Given the description of an element on the screen output the (x, y) to click on. 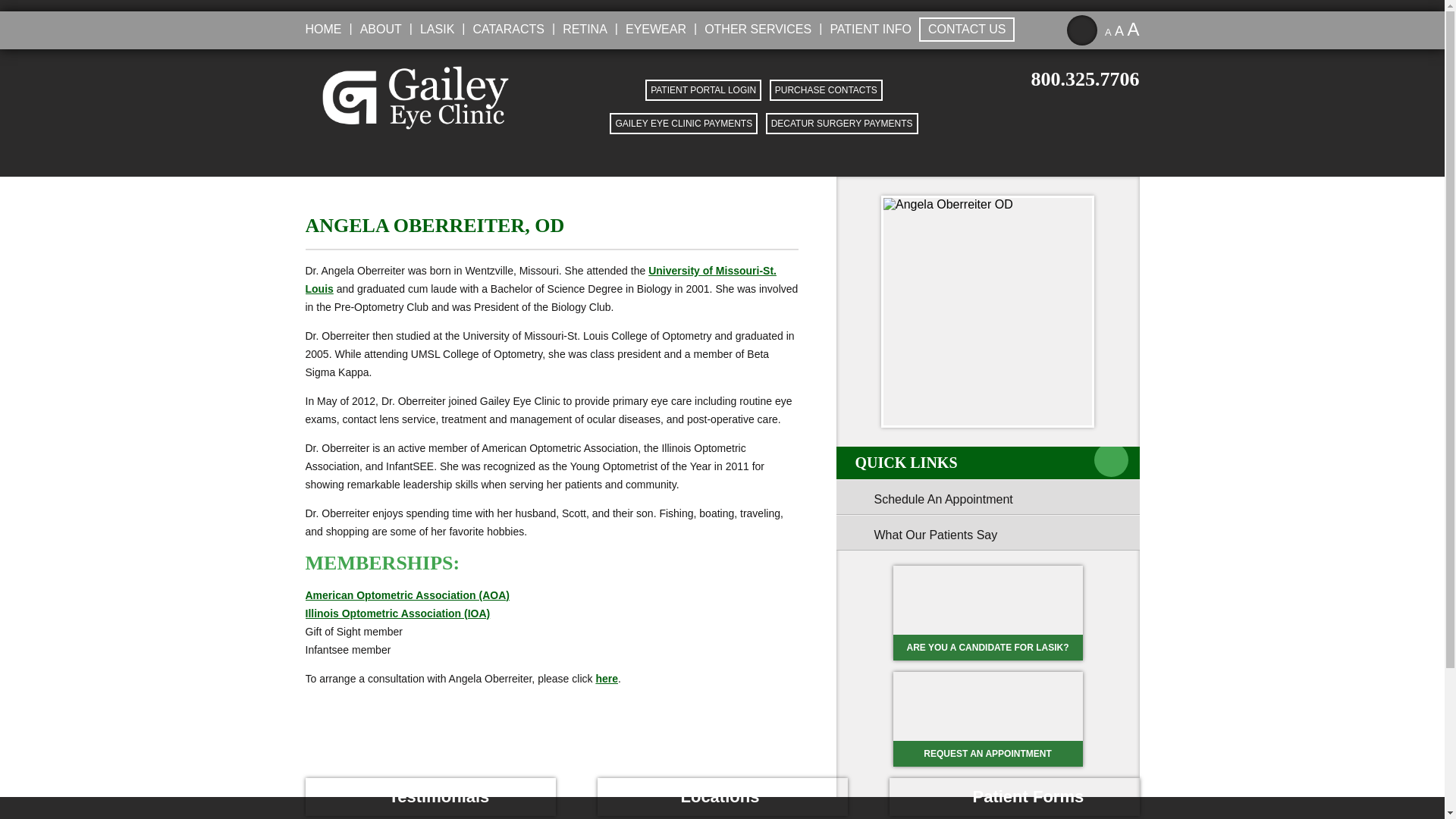
CATARACTS (506, 29)
Testimonials (986, 532)
LASIK (436, 29)
Contact Us (606, 678)
EYEWEAR (654, 29)
HOME (326, 29)
RETINA (582, 29)
Contact Us (986, 496)
OTHER SERVICES (756, 29)
ABOUT (379, 29)
